Given the description of an element on the screen output the (x, y) to click on. 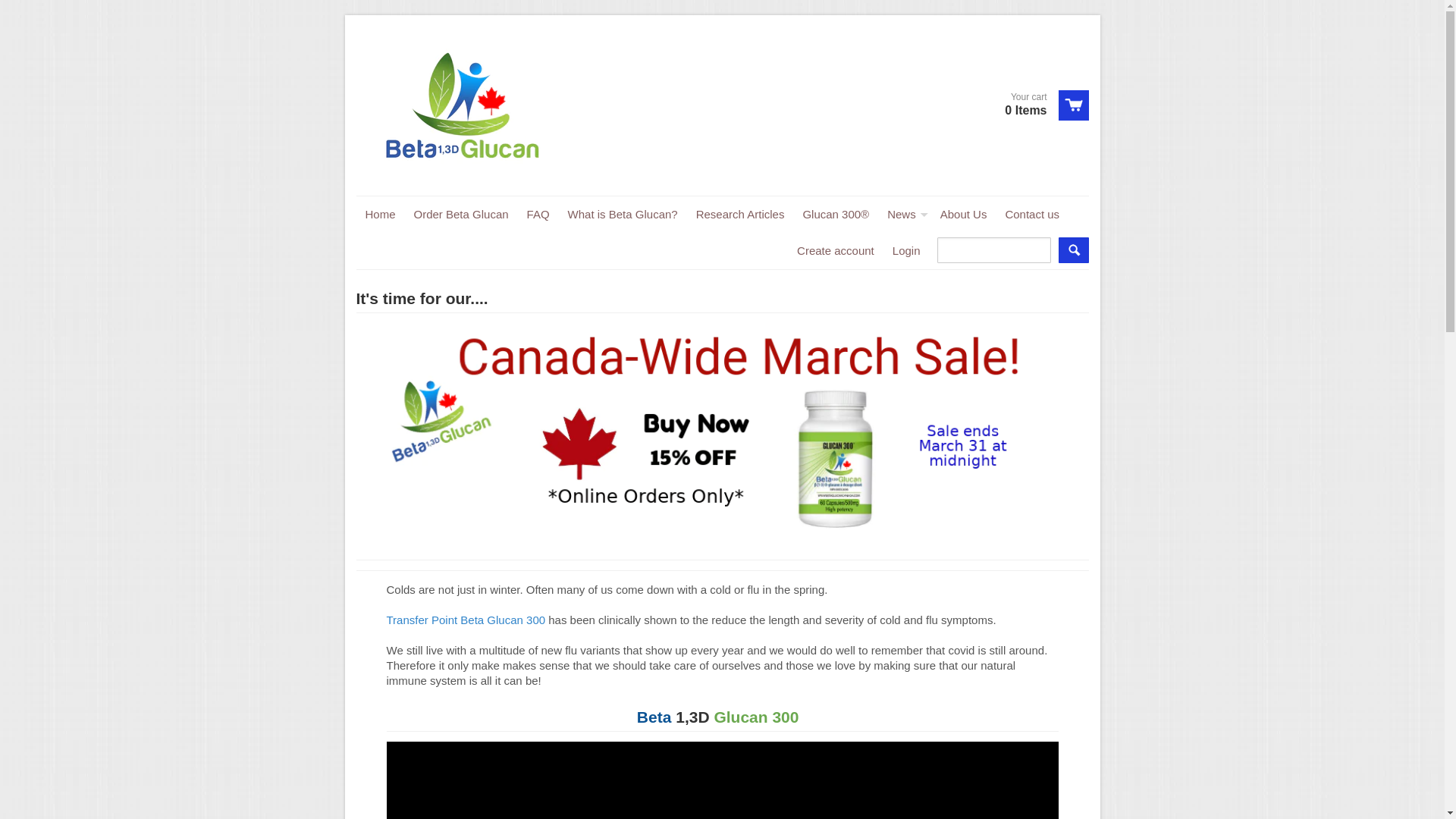
Contact us Element type: text (1031, 214)
What is Beta Glucan? Element type: text (622, 214)
Go Element type: text (1073, 250)
About Us Element type: text (963, 214)
View cart
Your cart
0 Items Element type: text (1040, 105)
Create account Element type: text (835, 250)
FAQ Element type: text (537, 214)
Login Element type: text (906, 250)
Beta 1,3D Glucan 300  Element type: text (720, 716)
Research Articles Element type: text (740, 214)
Transfer Point Beta Glucan 300 Element type: text (466, 619)
News Element type: text (904, 214)
Order Beta Glucan Element type: text (460, 214)
Home Element type: text (380, 214)
